Given the description of an element on the screen output the (x, y) to click on. 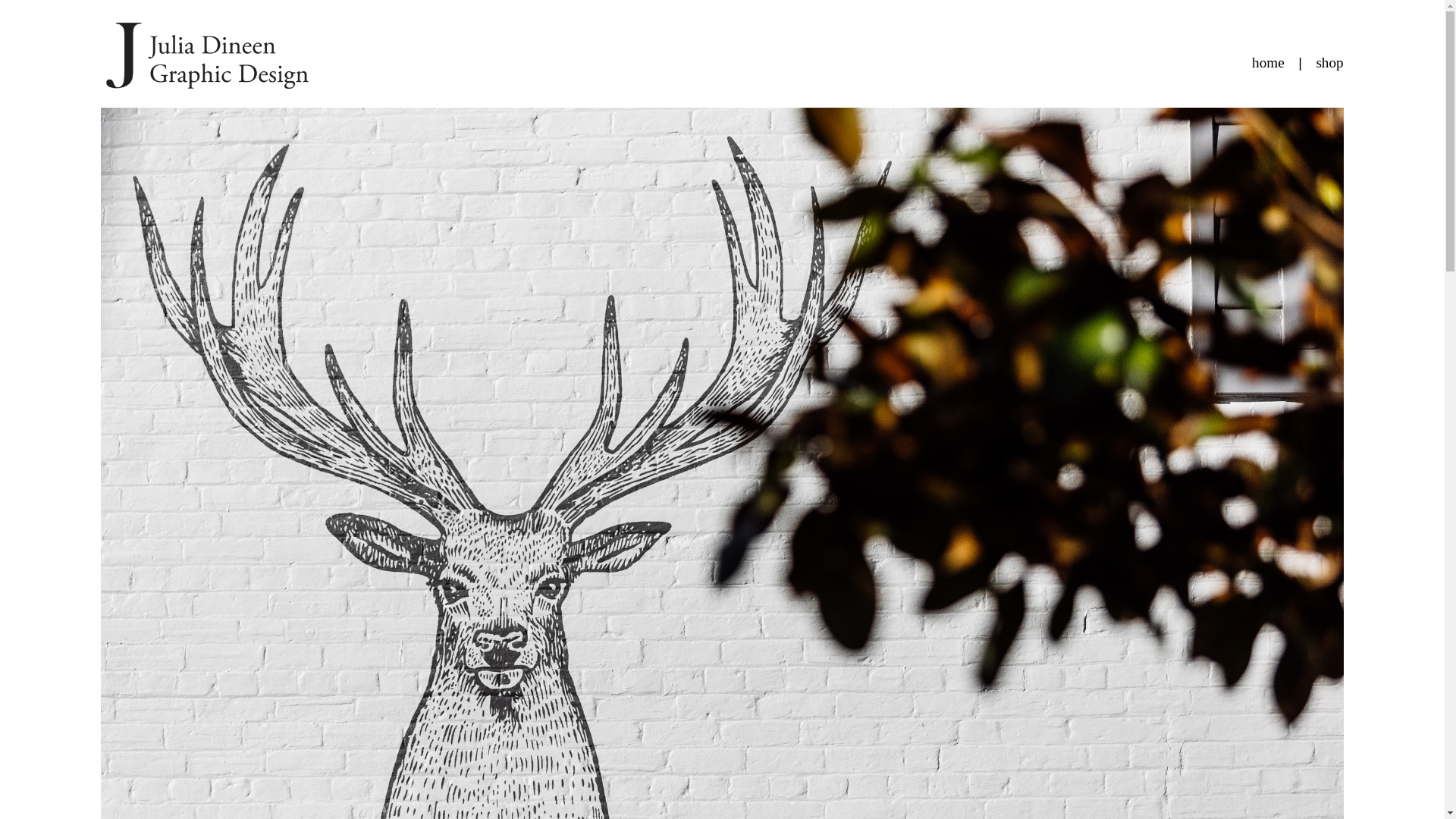
shop Element type: text (1329, 62)
home Element type: text (1268, 62)
